Given the description of an element on the screen output the (x, y) to click on. 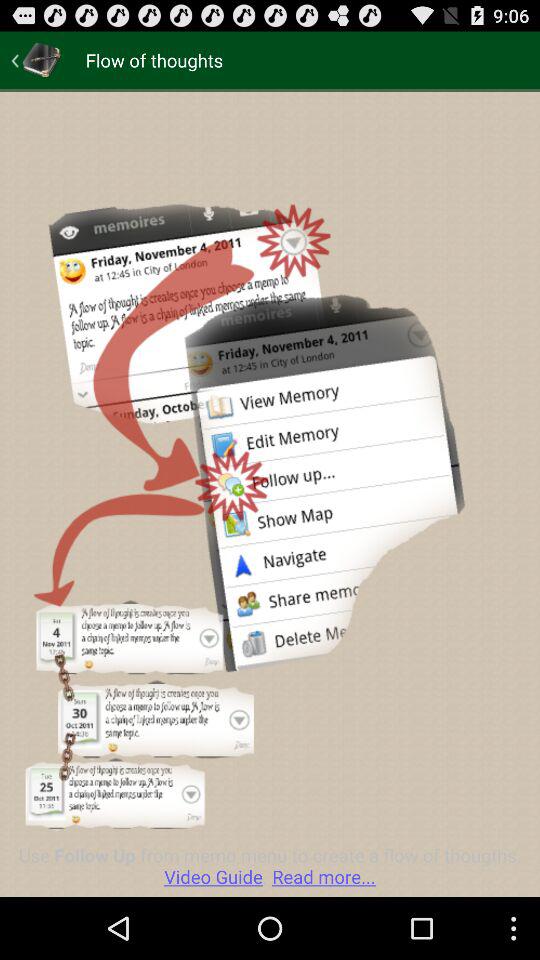
flip until the use follow up item (270, 866)
